Given the description of an element on the screen output the (x, y) to click on. 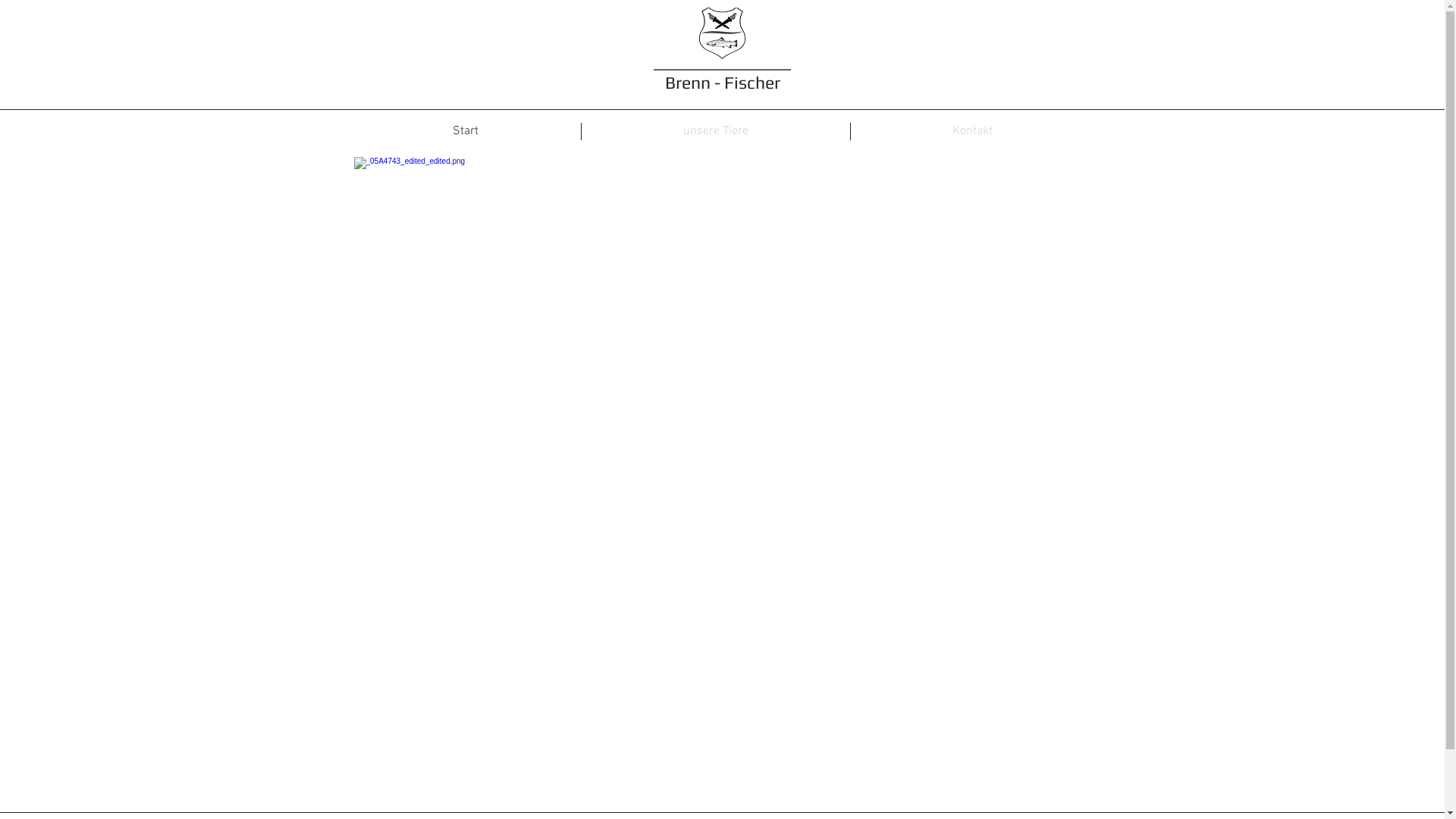
Kontakt Element type: text (972, 131)
unsere Tiere Element type: text (714, 131)
Brenn - Fischer Element type: text (721, 82)
Start Element type: text (465, 131)
